Given the description of an element on the screen output the (x, y) to click on. 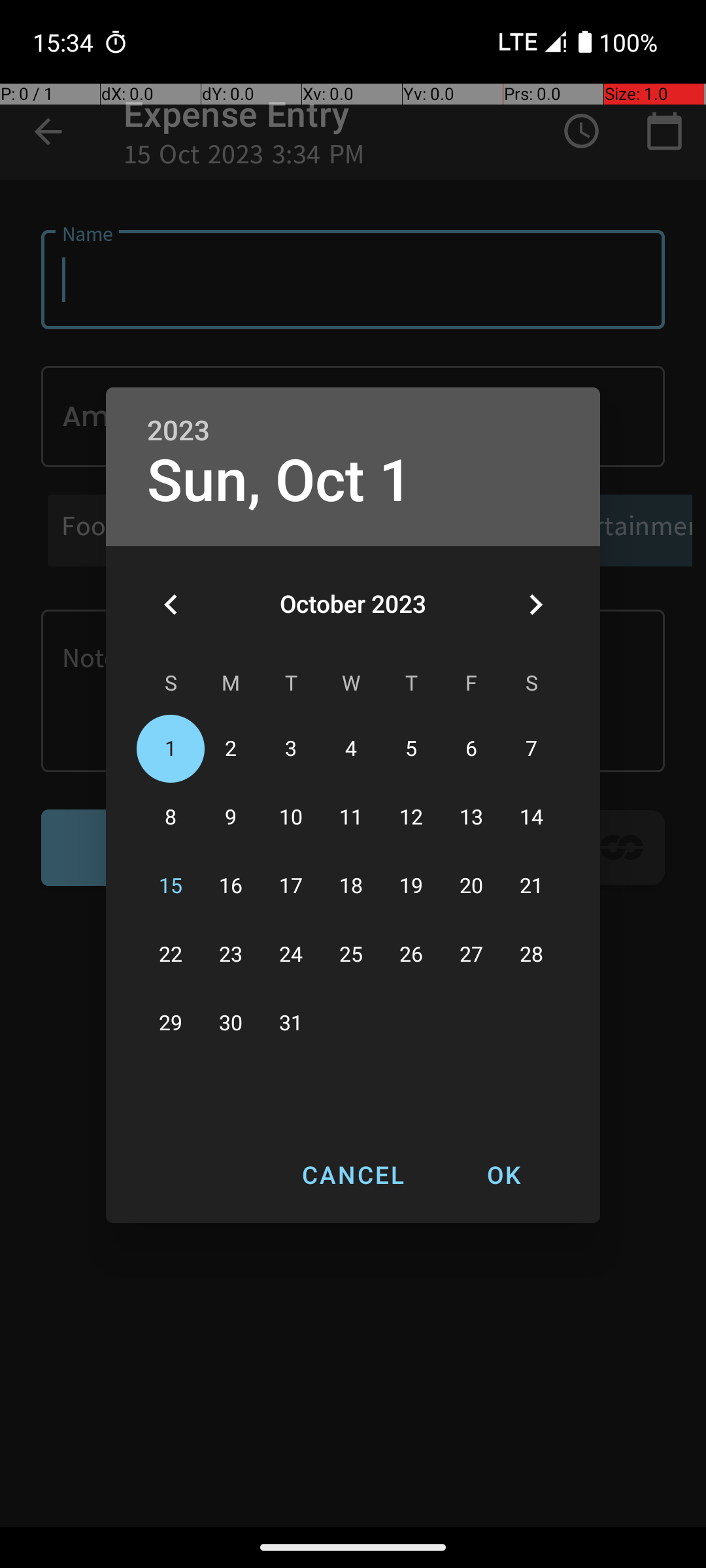
Sun, Oct 1 Element type: android.widget.TextView (279, 480)
